Given the description of an element on the screen output the (x, y) to click on. 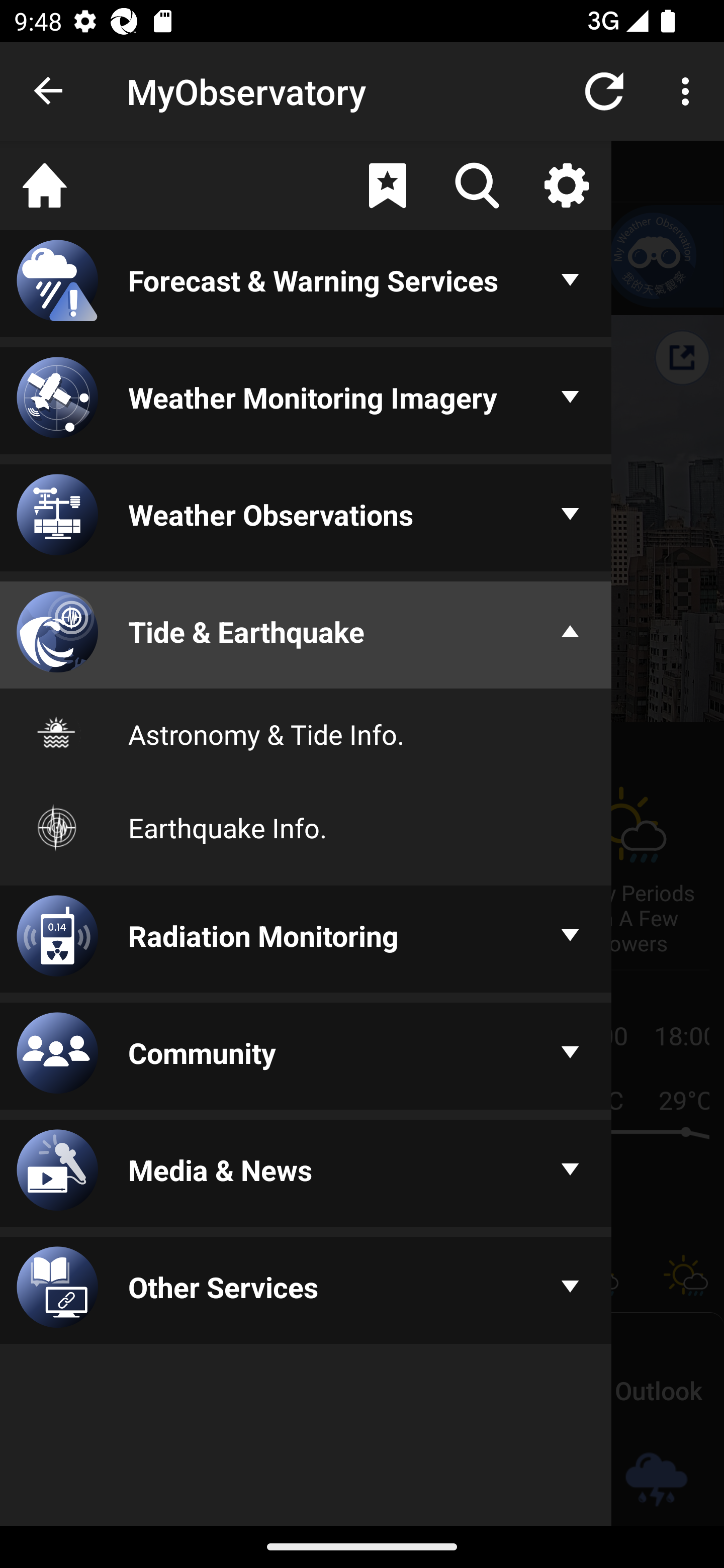
Navigate up (49, 91)
Refresh (604, 90)
More options (688, 90)
Homepage (44, 185)
Bookmark Manager (387, 185)
Search Unselected (477, 185)
Settings (566, 185)
Forecast & Warning Services Collapsed (305, 285)
Weather Monitoring Imagery Collapsed (305, 401)
Weather Observations Collapsed (305, 518)
Astronomy & Tide Info. (305, 734)
Earthquake Info. (305, 827)
Radiation Monitoring Collapsed (305, 940)
Community Collapsed (305, 1056)
Media & News Collapsed (305, 1174)
Other Services Collapsed (305, 1291)
